Given the description of an element on the screen output the (x, y) to click on. 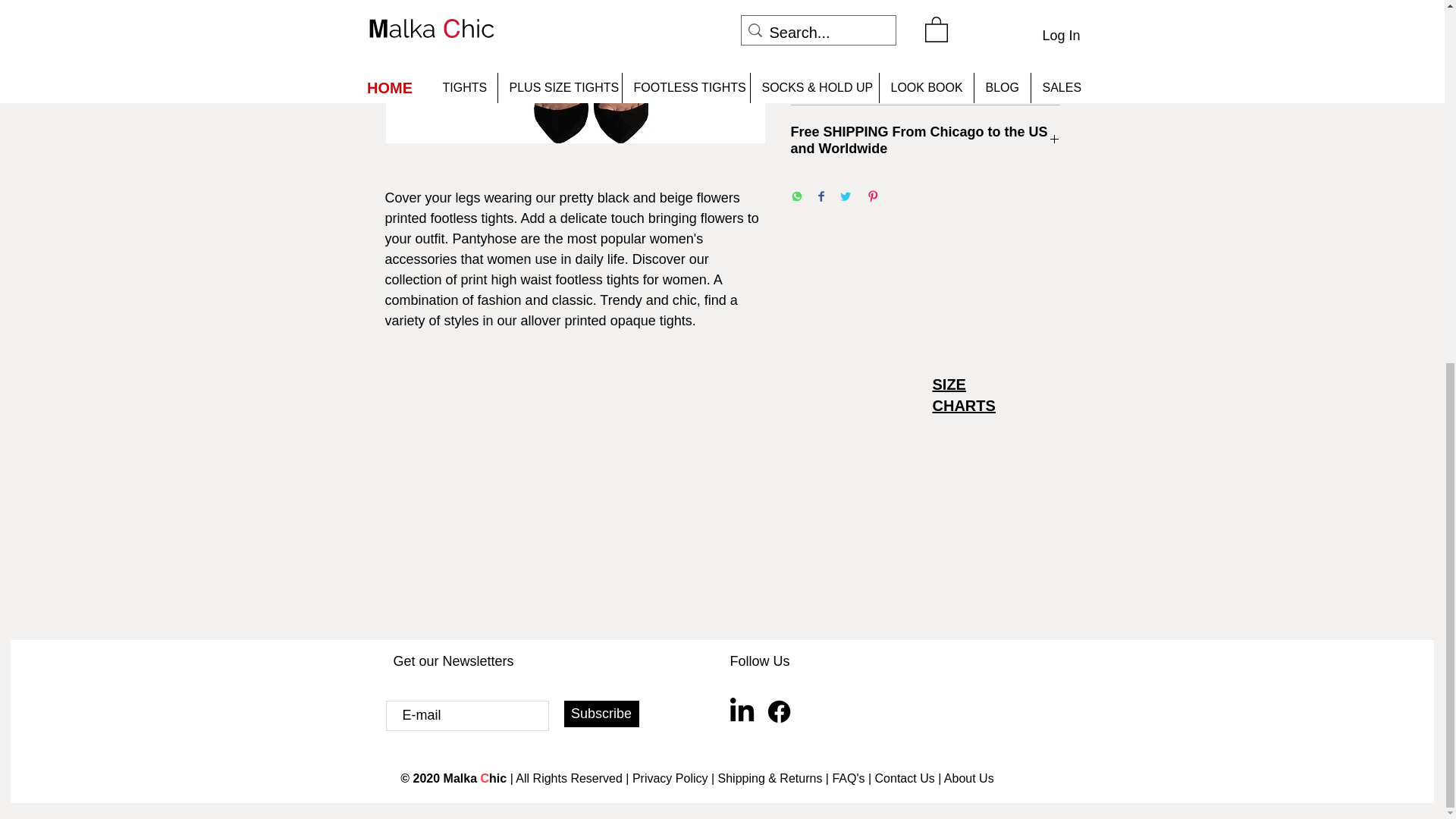
Where is our collection made? (924, 77)
Free SHIPPING From Chicago to the US and Worldwide (924, 140)
How can I take good care of my tights? (924, 23)
